Given the description of an element on the screen output the (x, y) to click on. 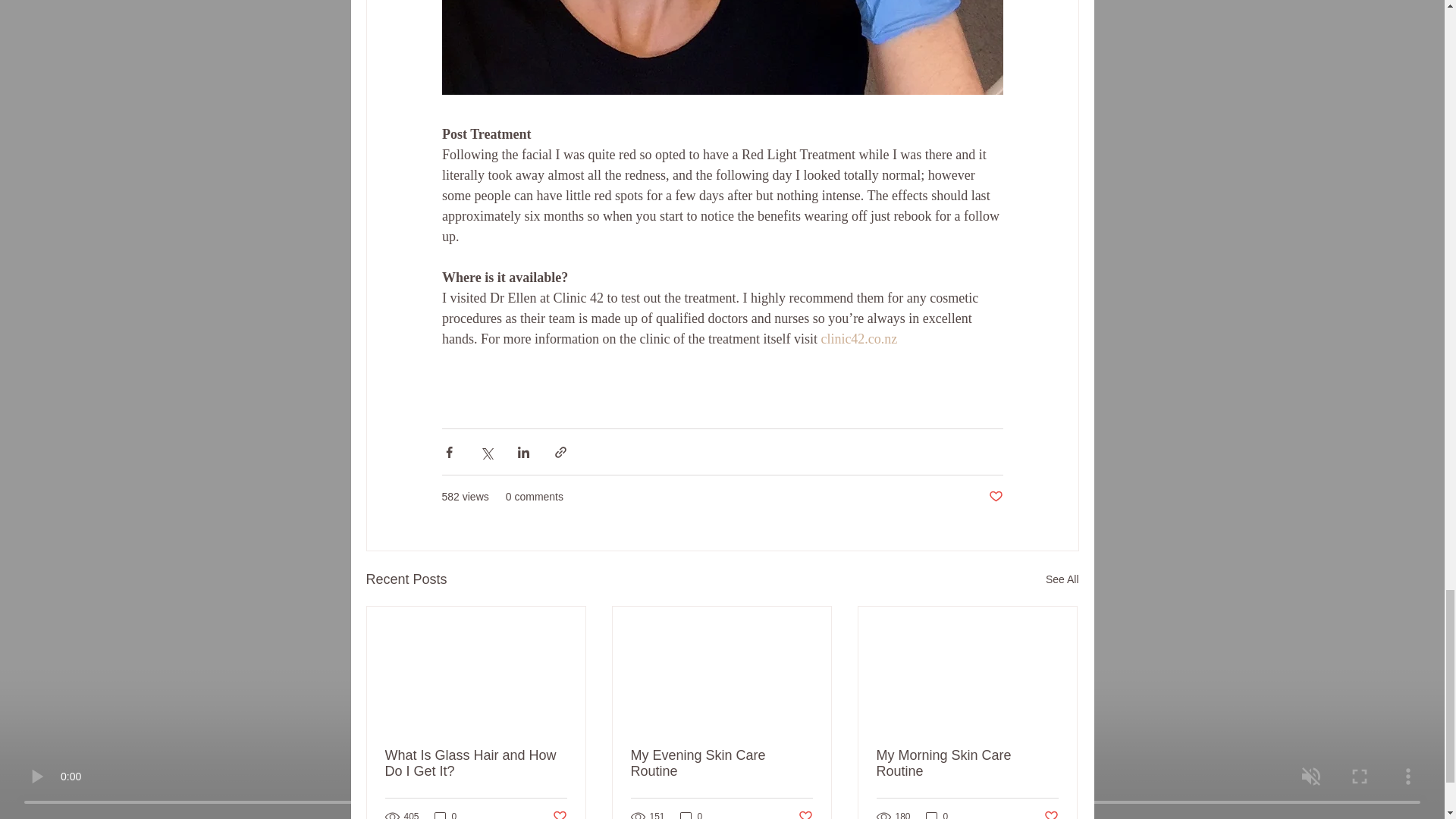
0 (445, 814)
0 (937, 814)
See All (1061, 579)
Post not marked as liked (804, 814)
Post not marked as liked (995, 496)
Post not marked as liked (558, 814)
My Evening Skin Care Routine (721, 763)
0 (691, 814)
Post not marked as liked (1050, 814)
My Morning Skin Care Routine (967, 763)
